Given the description of an element on the screen output the (x, y) to click on. 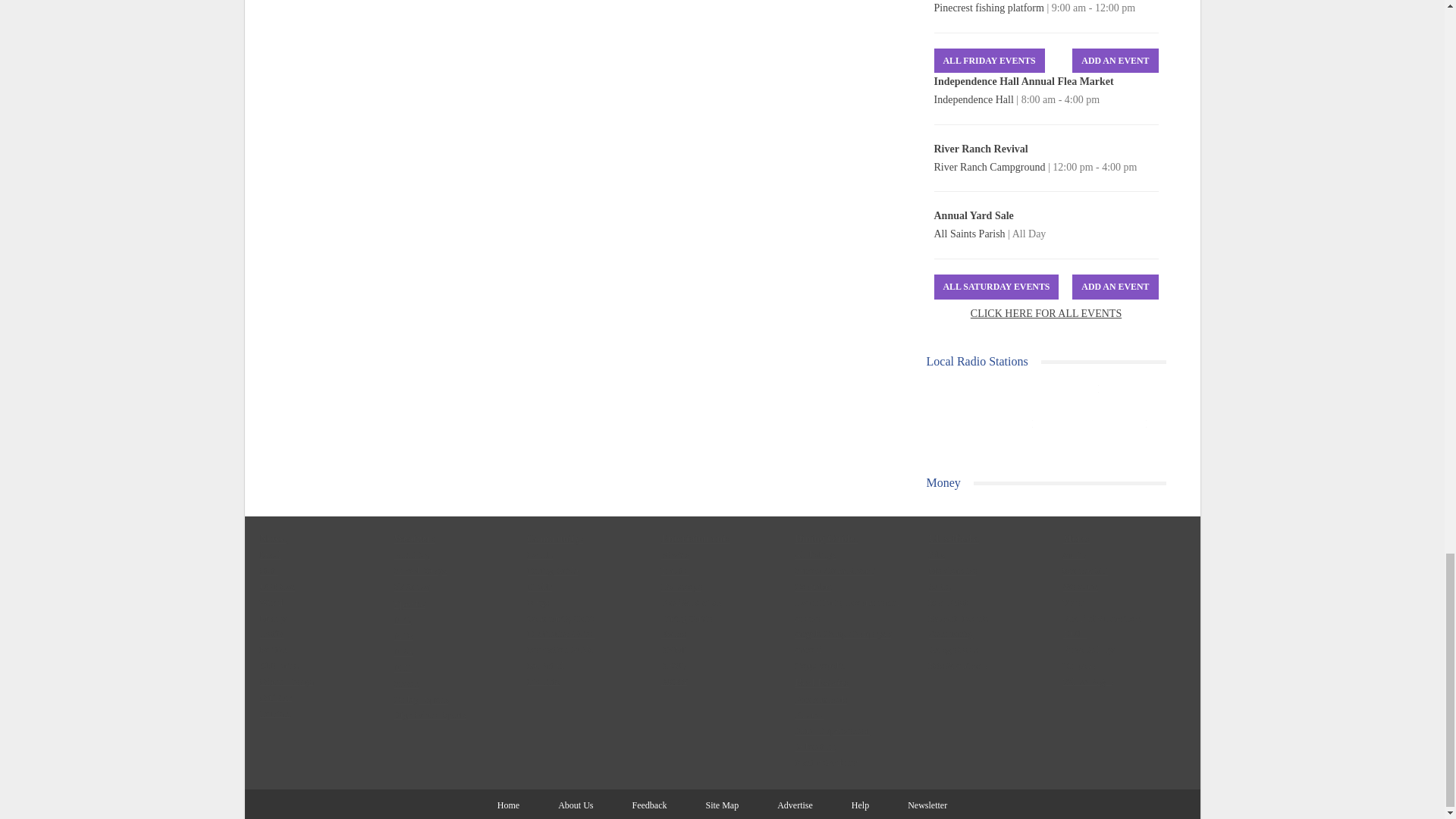
Add An Event (1114, 60)
All Saturday Events (996, 286)
All Friday Events (989, 60)
Add An Event (1114, 286)
